Given the description of an element on the screen output the (x, y) to click on. 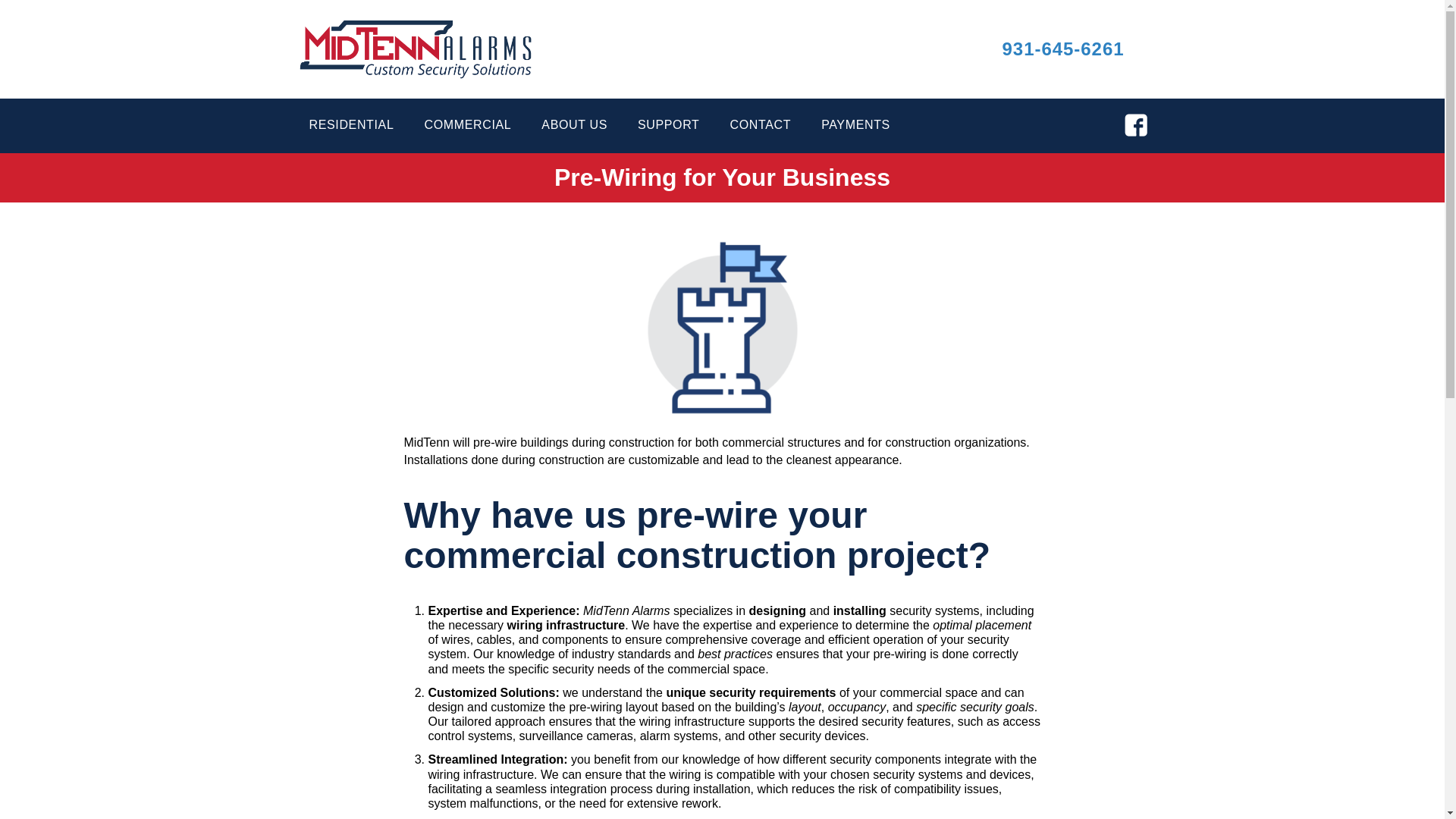
RESIDENTIAL (351, 132)
931-645-6261 (1063, 48)
ABOUT US (574, 132)
PAYMENTS (855, 132)
CONTACT (759, 132)
COMMERCIAL (467, 132)
SUPPORT (668, 132)
